Given the description of an element on the screen output the (x, y) to click on. 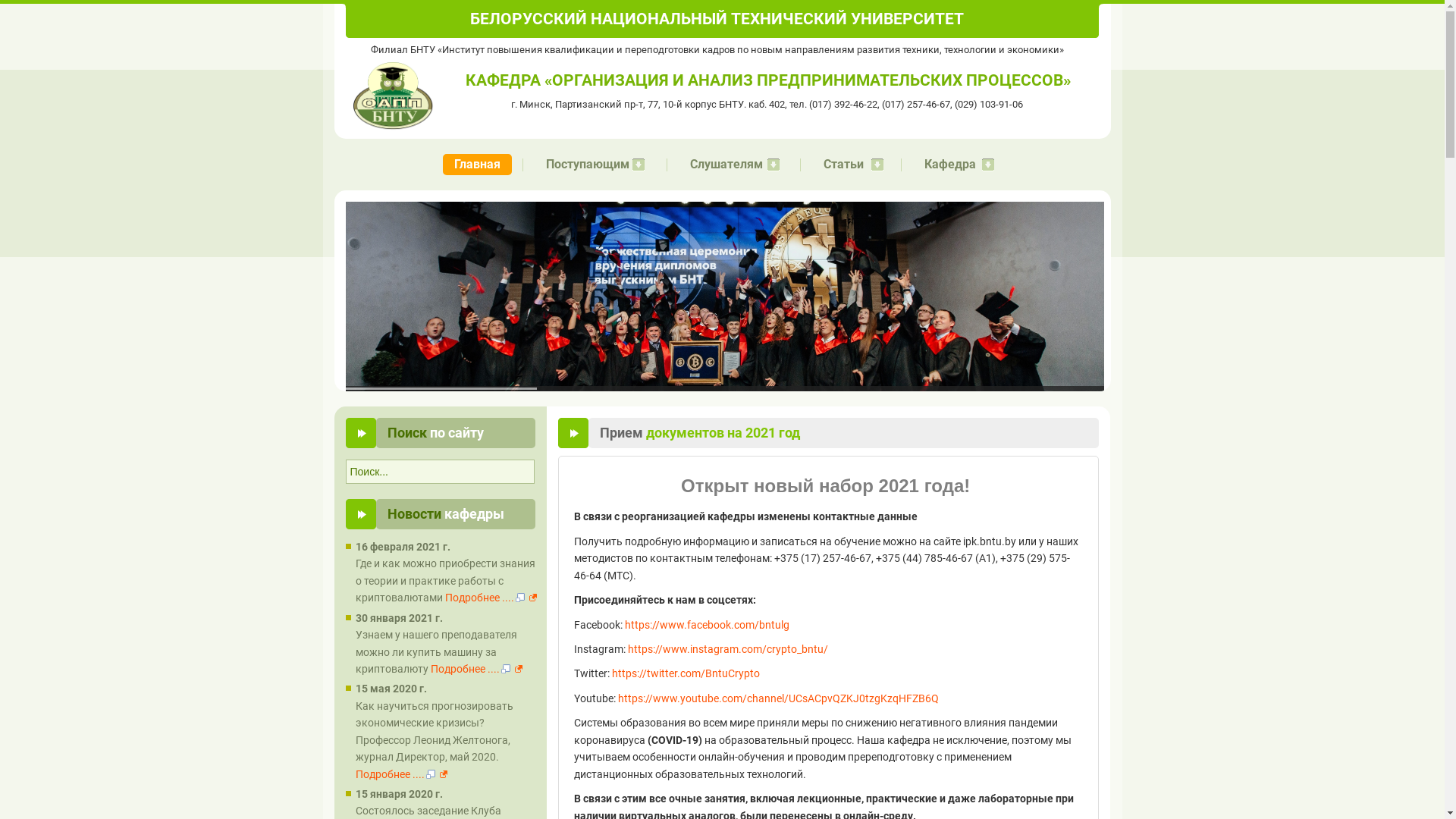
(029) 103-91-06 Element type: text (988, 103)
https://twitter.com/BntuCrypto Element type: text (685, 673)
https://www.youtube.com/channel/UCsACpvQZKJ0tzgKzqHFZB6Q Element type: text (777, 698)
https://www.instagram.com/crypto_bntu/ Element type: text (727, 649)
https://www.facebook.com/bntulg Element type: text (706, 624)
